Given the description of an element on the screen output the (x, y) to click on. 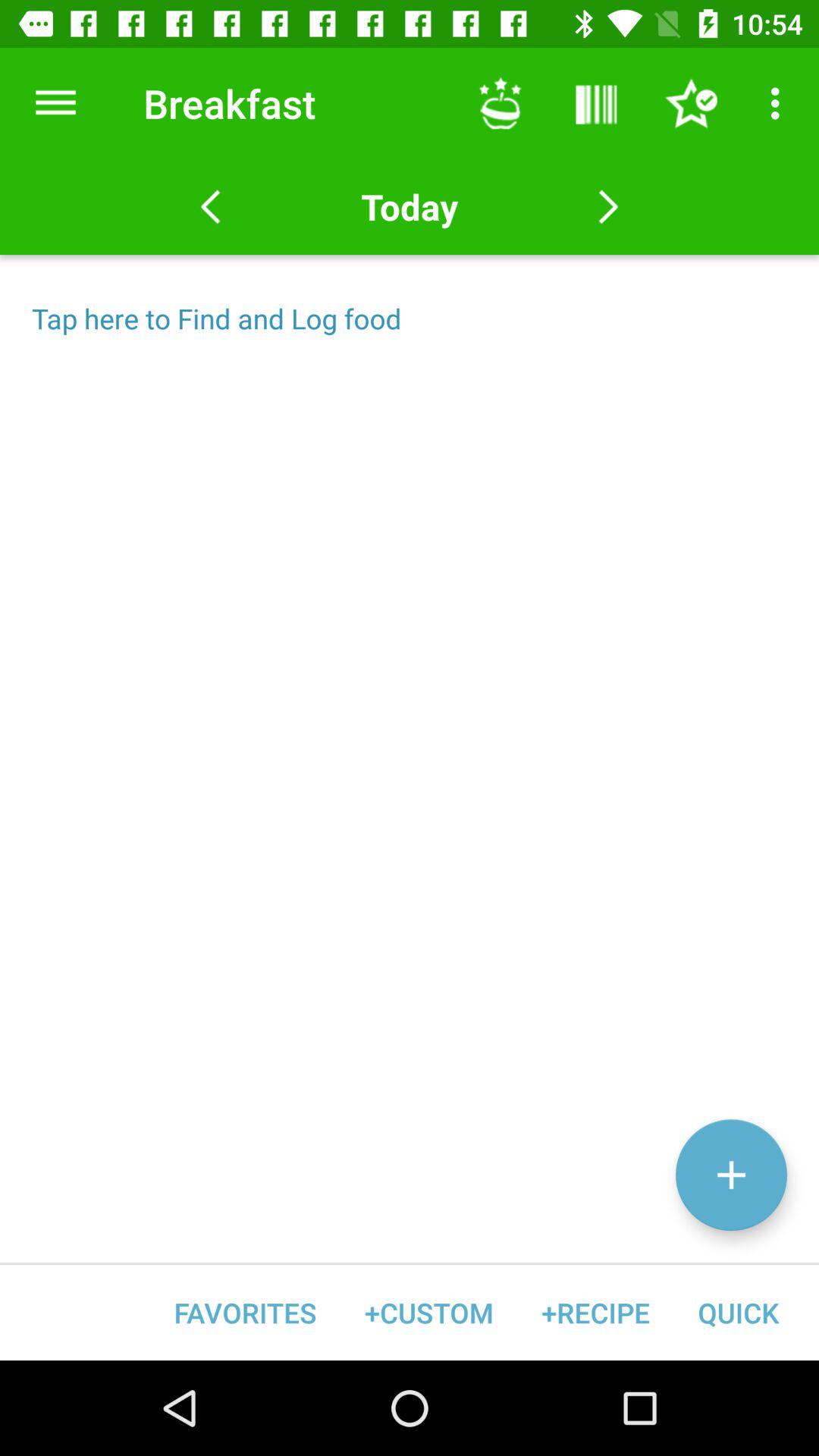
choose the item next to breakfast item (500, 103)
